Given the description of an element on the screen output the (x, y) to click on. 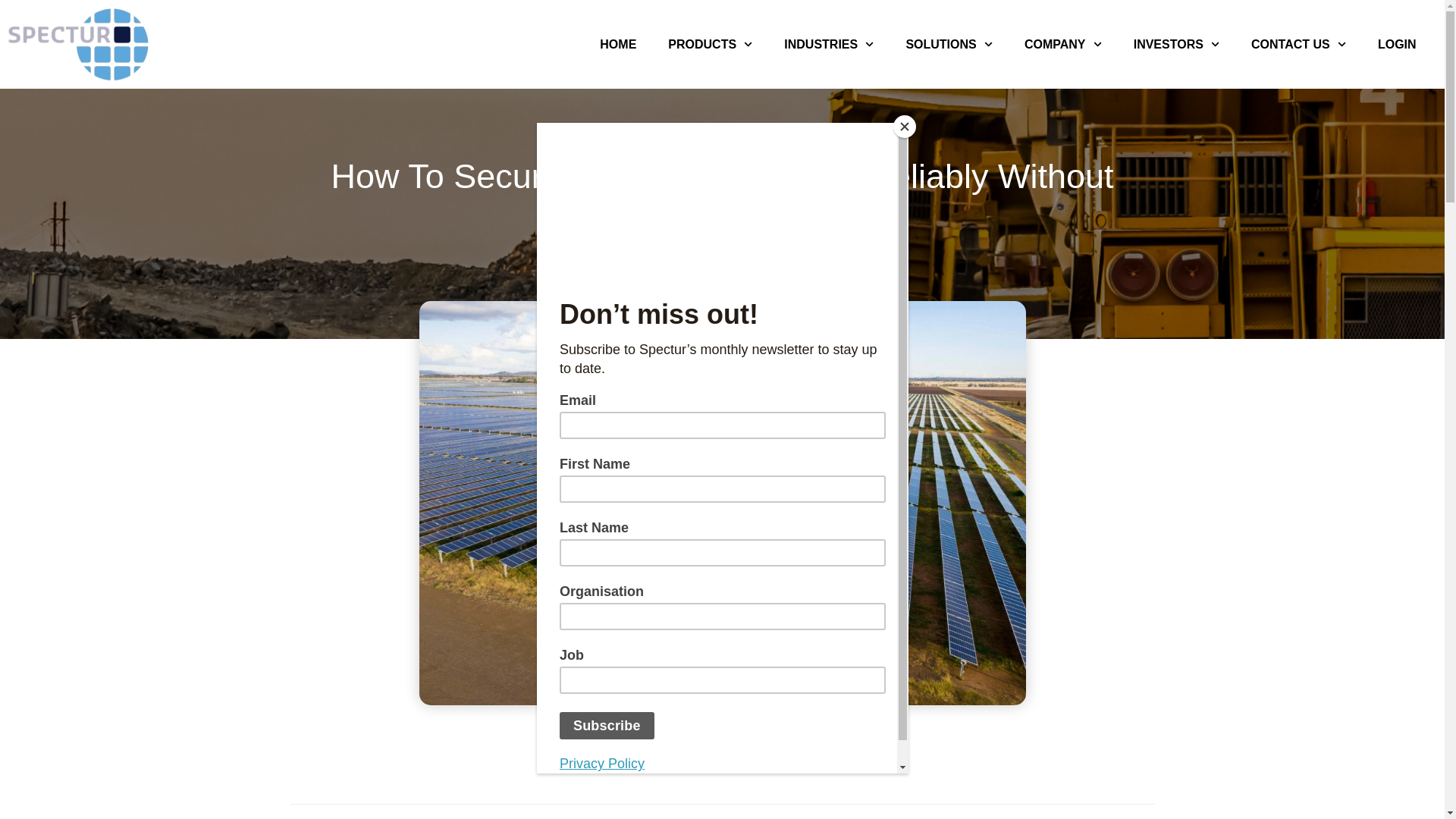
INVESTORS (1176, 44)
COMPANY (1063, 44)
SOLUTIONS (949, 44)
HOME (617, 44)
INDUSTRIES (828, 44)
PRODUCTS (710, 44)
